Given the description of an element on the screen output the (x, y) to click on. 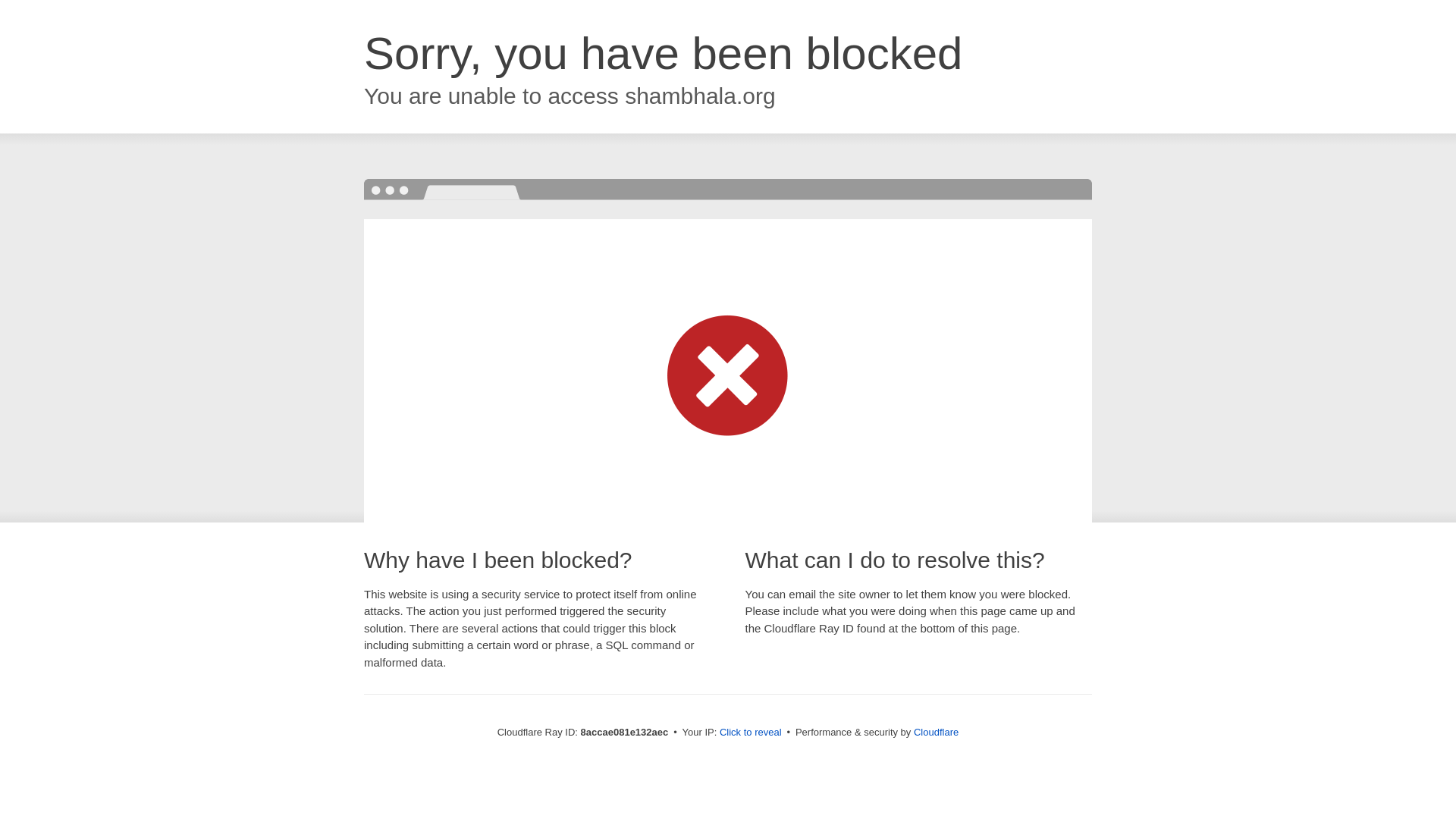
Cloudflare (936, 731)
Click to reveal (750, 732)
